Given the description of an element on the screen output the (x, y) to click on. 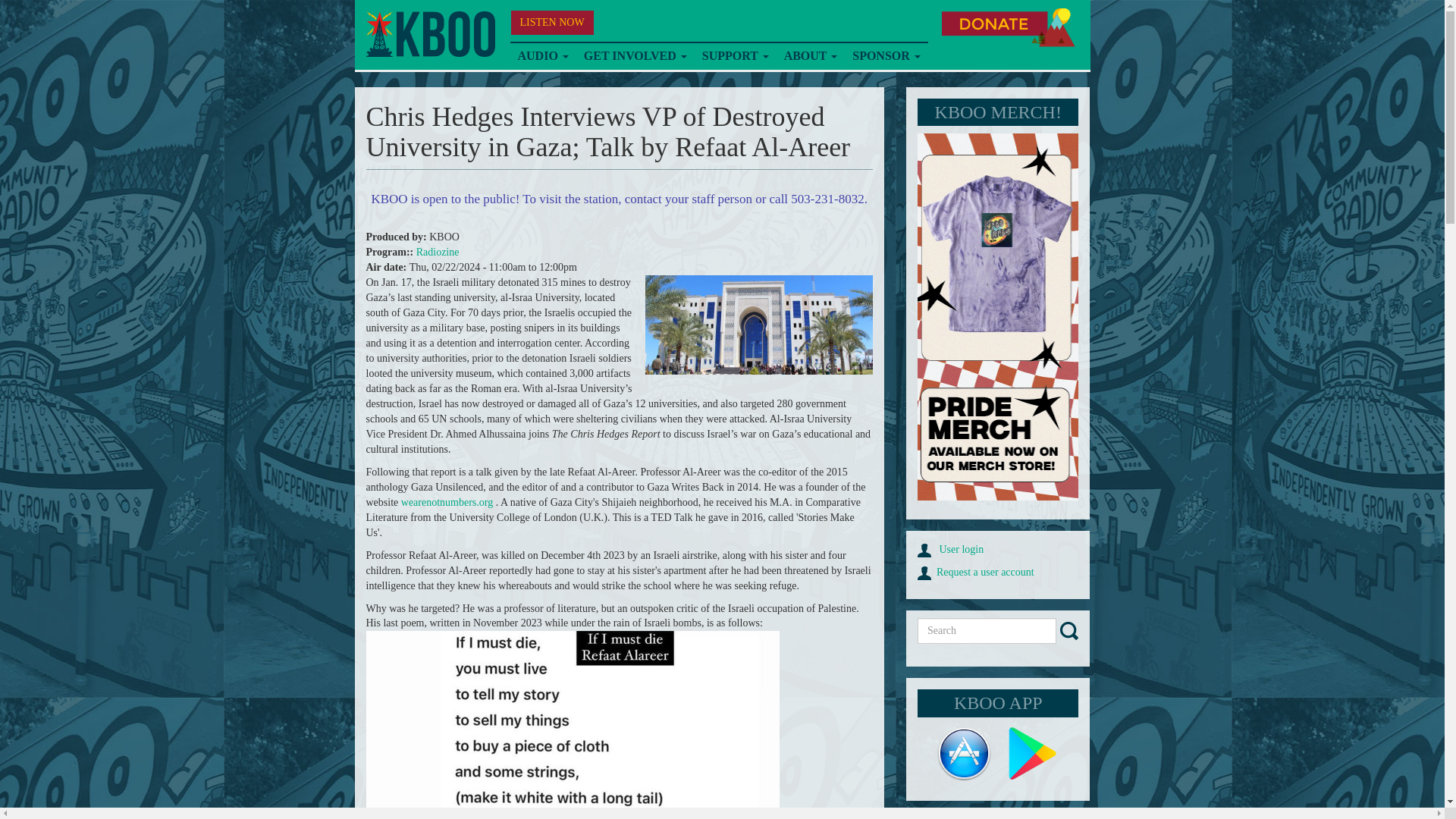
SUPPORT (735, 55)
GET INVOLVED (635, 55)
ABOUT (810, 55)
SPONSOR (886, 55)
AUDIO (542, 55)
Home (430, 34)
LISTEN NOW (551, 22)
